Given the description of an element on the screen output the (x, y) to click on. 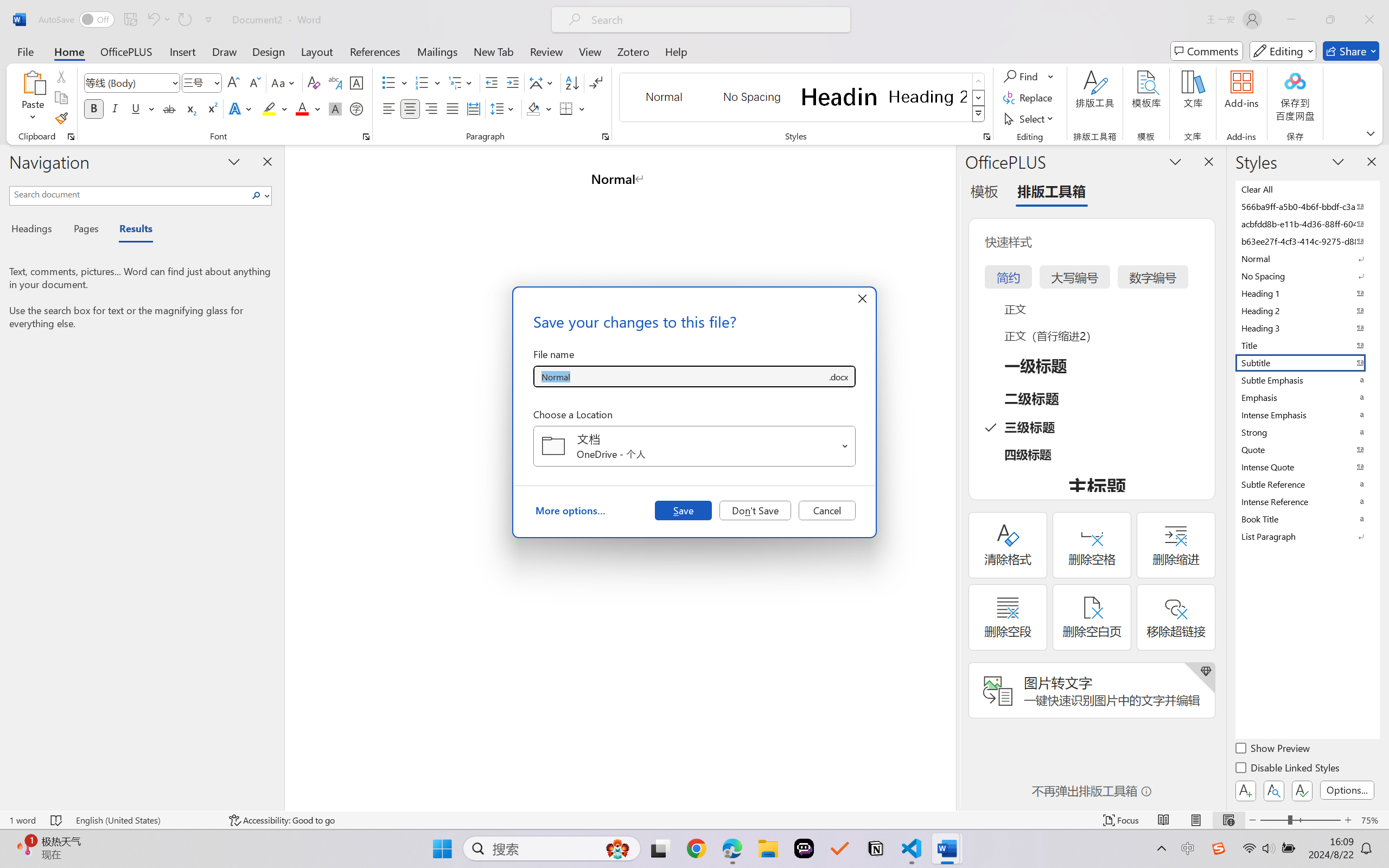
Layout (316, 51)
Design (268, 51)
Mode (1283, 50)
Numbering (428, 82)
Microsoft search (715, 19)
Accessibility Checker Accessibility: Good to go (282, 819)
File name (680, 376)
Select (1030, 118)
References (375, 51)
Subtle Emphasis (1306, 379)
Minimize (1291, 19)
Decrease Indent (491, 82)
